Given the description of an element on the screen output the (x, y) to click on. 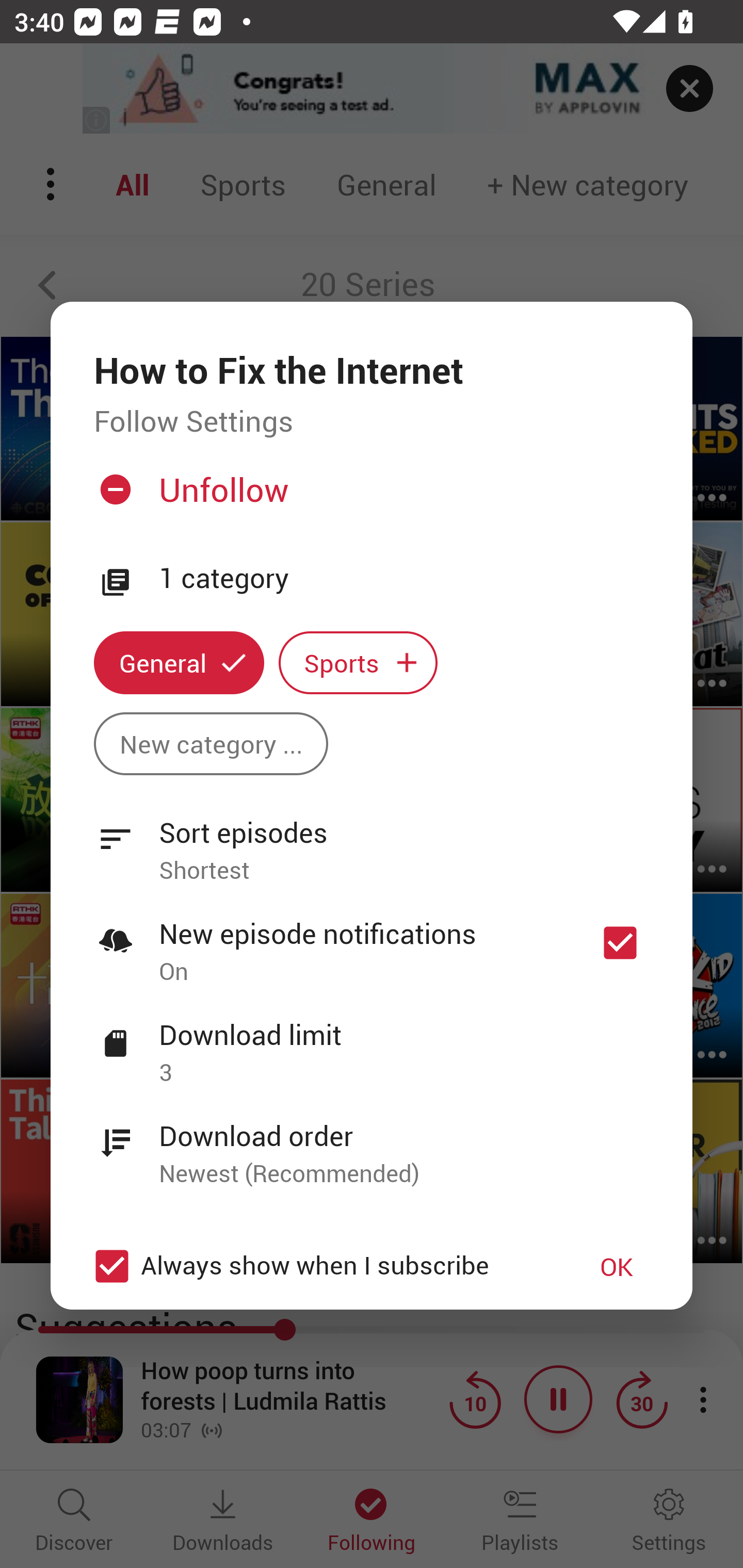
Unfollow (369, 496)
1 category (404, 578)
General (178, 662)
Sports (357, 662)
New category ... (210, 742)
Sort episodes Shortest (371, 840)
New episode notifications (620, 943)
Download limit 3 (371, 1042)
Download order Newest (Recommended) (371, 1143)
OK (616, 1266)
Always show when I subscribe (320, 1266)
